Given the description of an element on the screen output the (x, y) to click on. 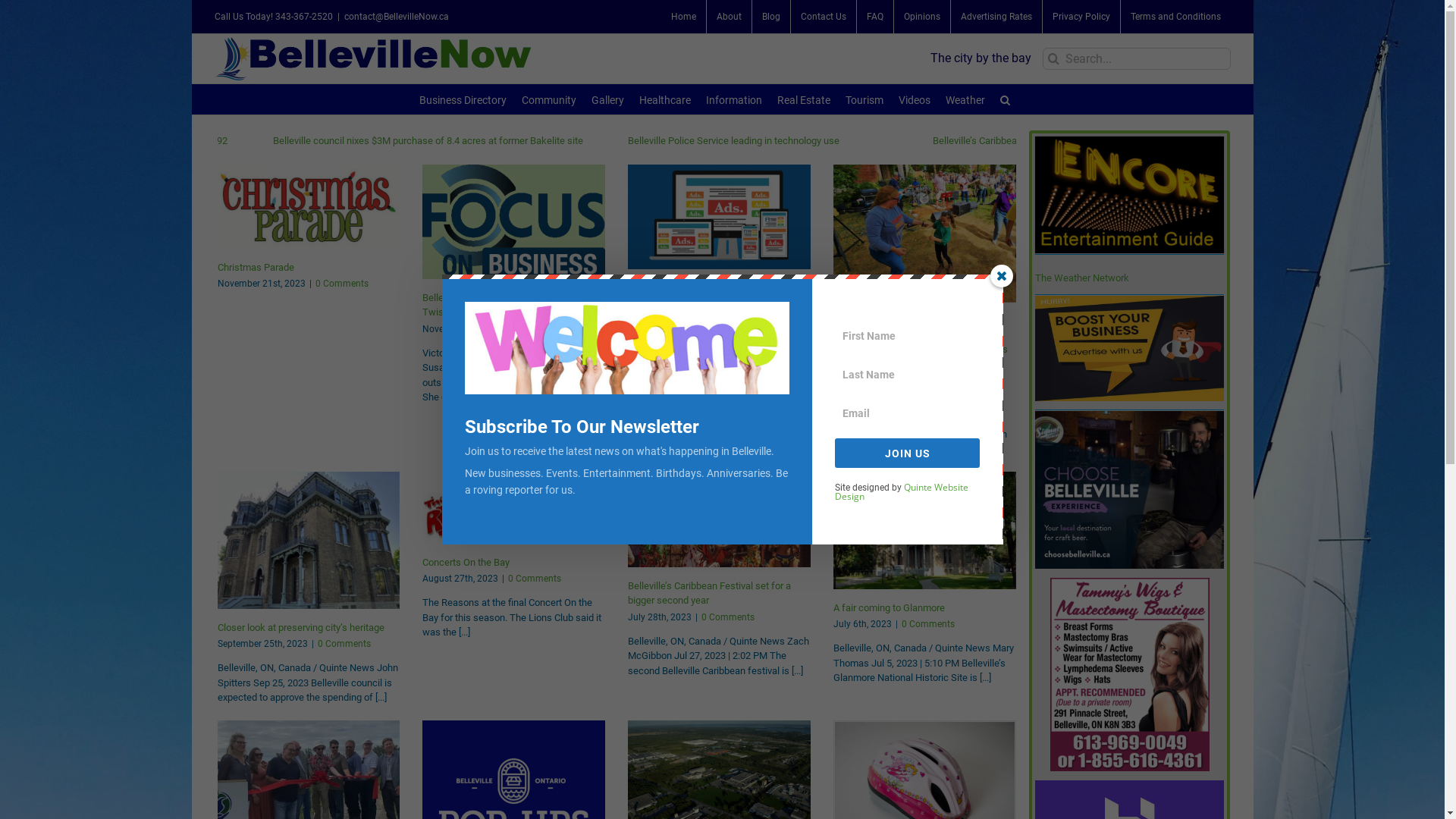
Christmas Parade Element type: text (254, 267)
Search Element type: hover (1005, 98)
contact@BellevilleNow.ca Element type: text (396, 16)
Real Estate Element type: text (803, 98)
Concerts On the Bay Element type: text (465, 561)
Blog Element type: text (771, 16)
Bitcoin $38,928.92 Element type: text (356, 140)
Contact Us Element type: text (822, 16)
0 Comments Element type: text (343, 643)
Terms and Conditions Element type: text (1175, 16)
0 Comments Element type: text (927, 623)
About Element type: text (728, 16)
New Advertising Program Element type: text (681, 287)
0 Comments Element type: text (727, 616)
Information Element type: text (734, 98)
A fair coming to Glanmore Element type: text (888, 607)
Business Directory Element type: text (462, 98)
Tourism Element type: text (864, 98)
0 Comments Element type: text (741, 303)
Videos Element type: text (914, 98)
JOIN US Element type: text (907, 452)
Community Element type: text (548, 98)
Healthcare Element type: text (664, 98)
Home Element type: text (683, 16)
Quinte Website Design Element type: text (901, 491)
Advertising Rates Element type: text (995, 16)
FAQ Element type: text (874, 16)
Opinions Element type: text (921, 16)
0 Comments Element type: text (534, 578)
The Weather Network Element type: text (1082, 277)
Weather Element type: text (965, 98)
Privacy Policy Element type: text (1080, 16)
0 Comments Element type: text (547, 328)
Gallery Element type: text (607, 98)
0 Comments Element type: text (959, 380)
0 Comments Element type: text (341, 283)
Belleville Police Service leading in technology use Element type: text (900, 140)
